Given the description of an element on the screen output the (x, y) to click on. 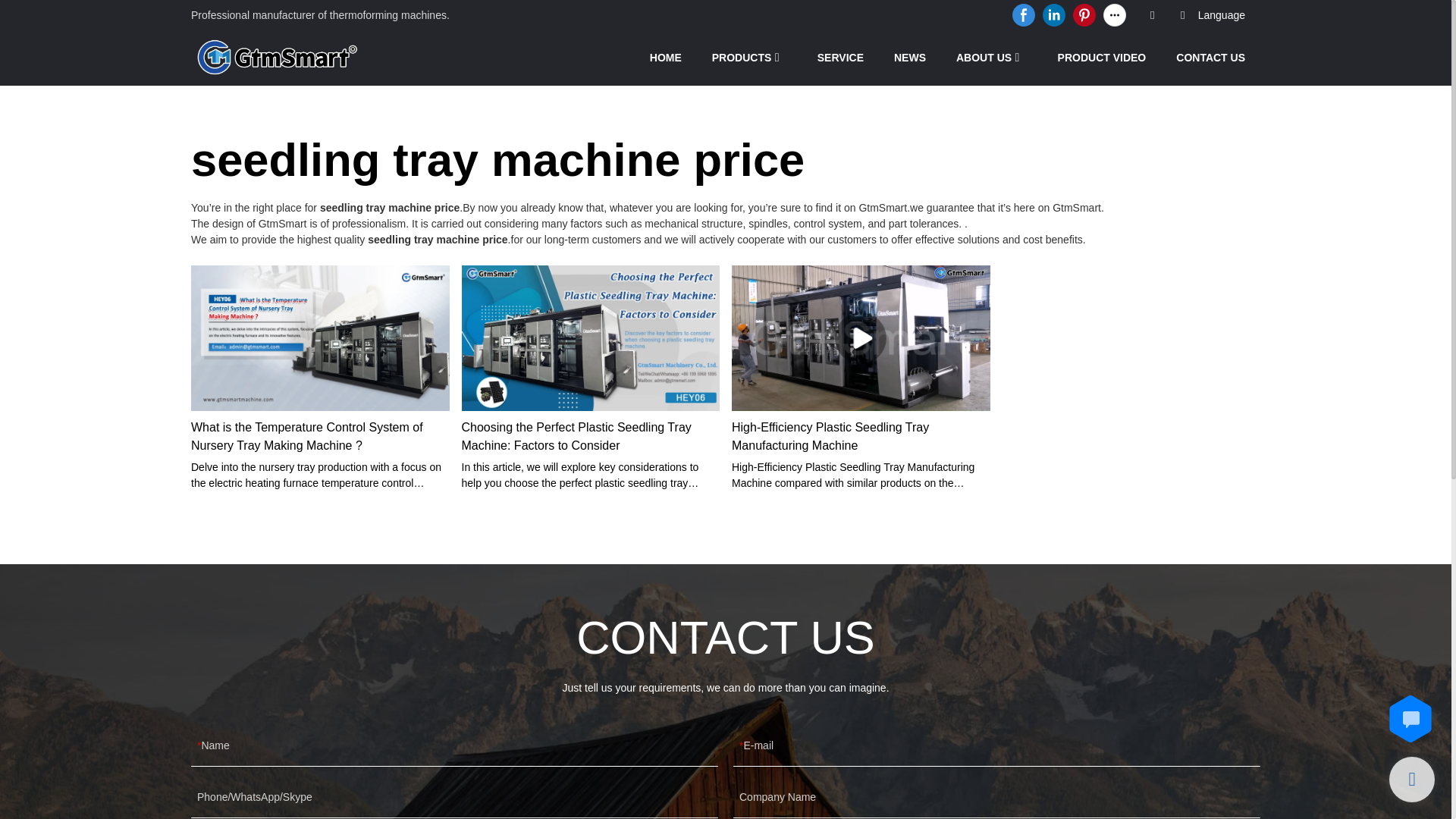
NEWS (909, 57)
High-Efficiency Plastic Seedling Tray Manufacturing Machine (861, 436)
PRODUCTS (741, 57)
CONTACT US (1210, 57)
ABOUT US (983, 57)
pinterest (1083, 15)
High-Efficiency Plastic Seedling Tray Manufacturing Machine (861, 436)
SERVICE (839, 57)
linkedin (1053, 15)
